Given the description of an element on the screen output the (x, y) to click on. 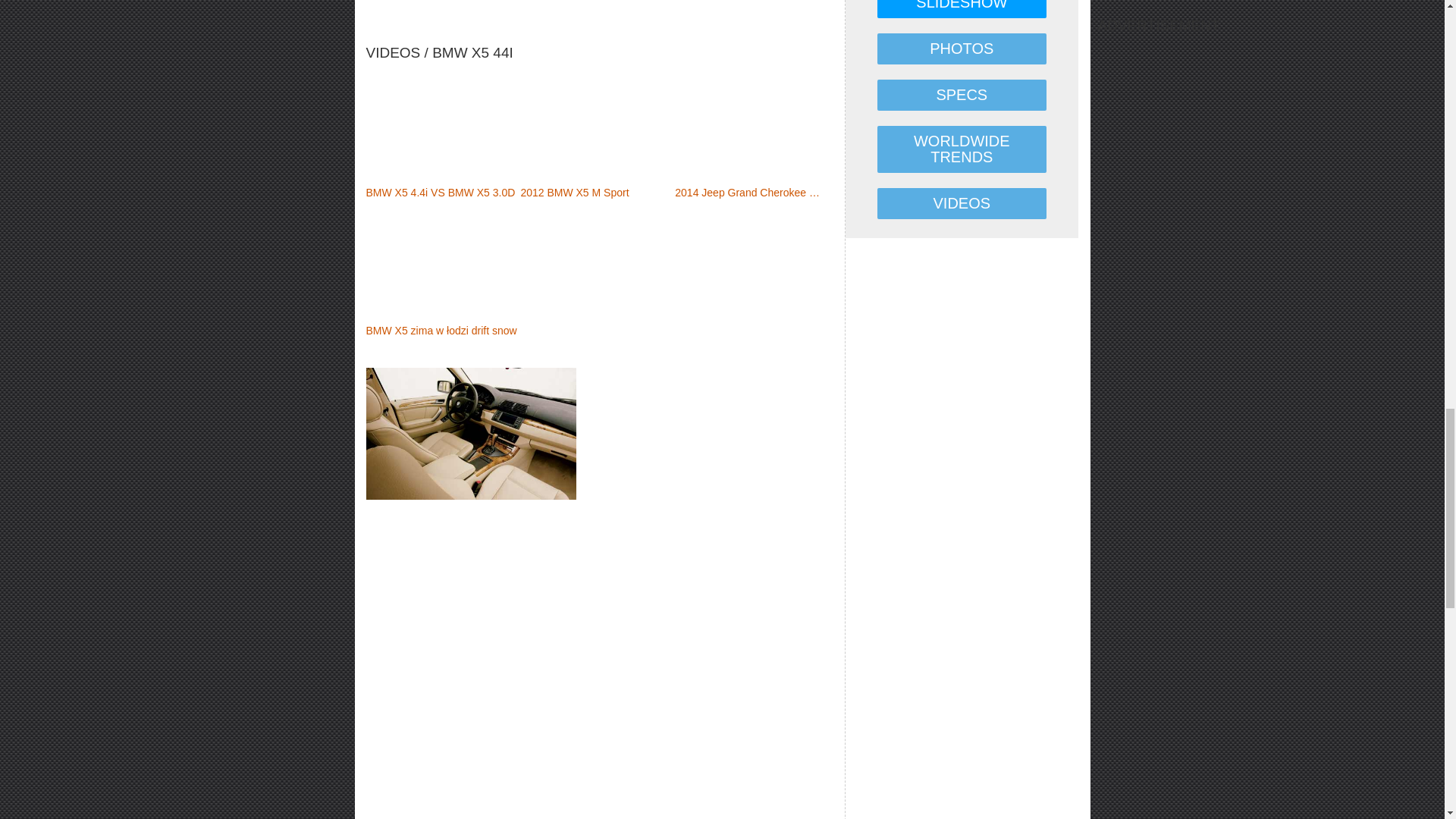
trends-widget-1 (598, 10)
